Given the description of an element on the screen output the (x, y) to click on. 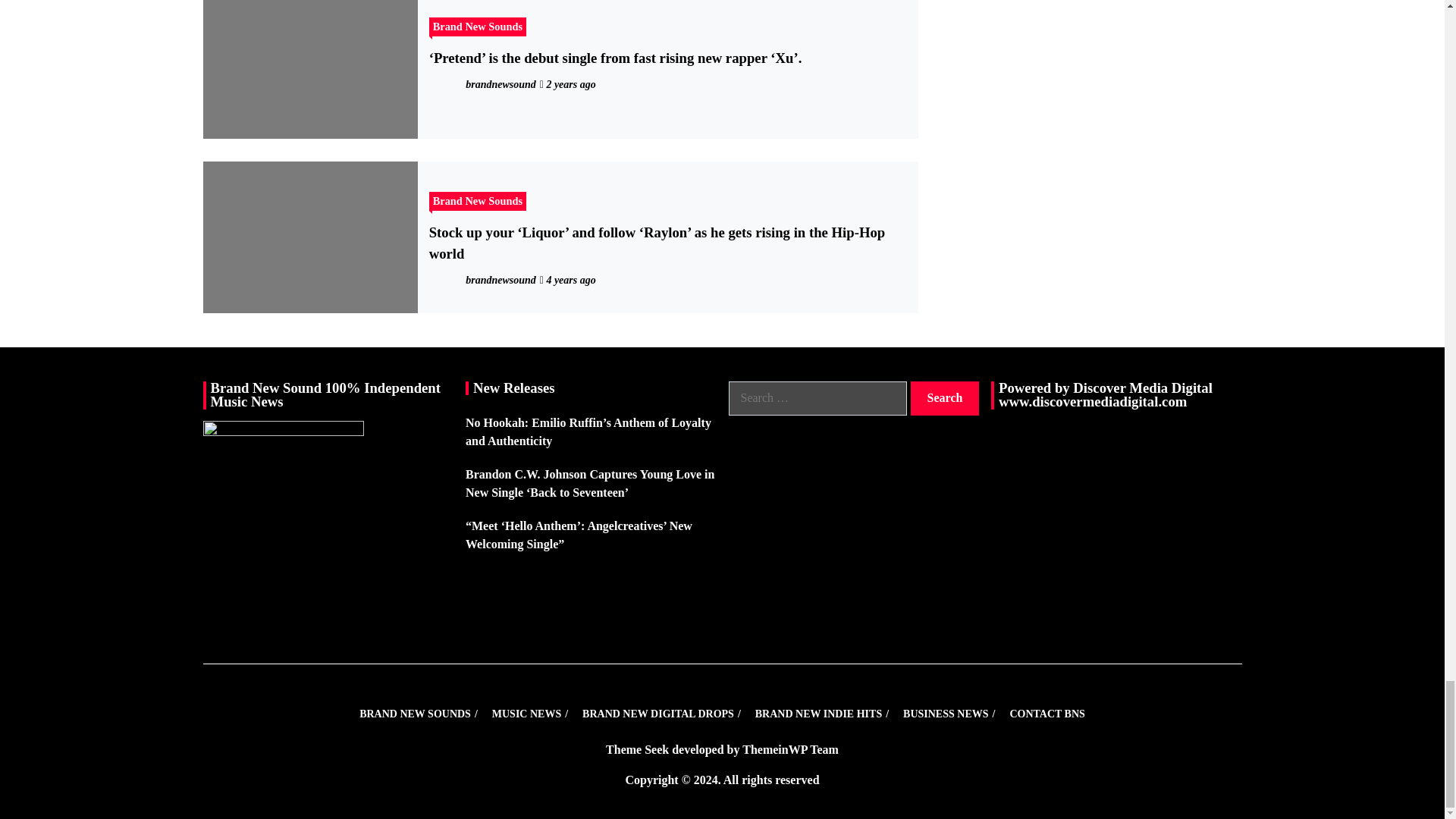
Search (944, 398)
Search (944, 398)
